Given the description of an element on the screen output the (x, y) to click on. 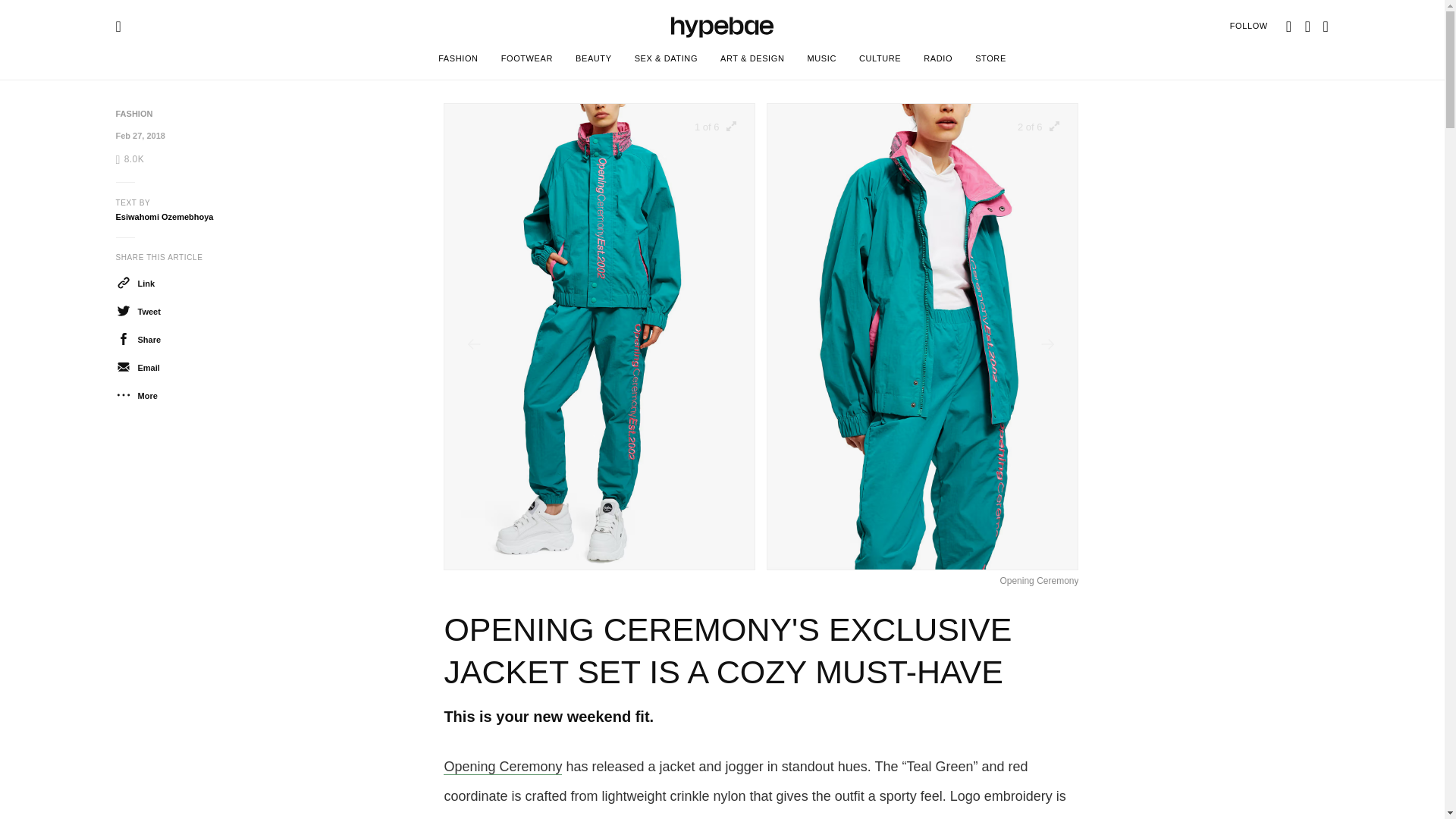
RADIO (937, 60)
Fashion (133, 112)
FASHION (133, 112)
CULTURE (879, 60)
STORE (990, 60)
FASHION (457, 60)
Opening Ceremony (503, 766)
FOLLOW (1248, 25)
FOOTWEAR (526, 60)
BEAUTY (593, 60)
